Given the description of an element on the screen output the (x, y) to click on. 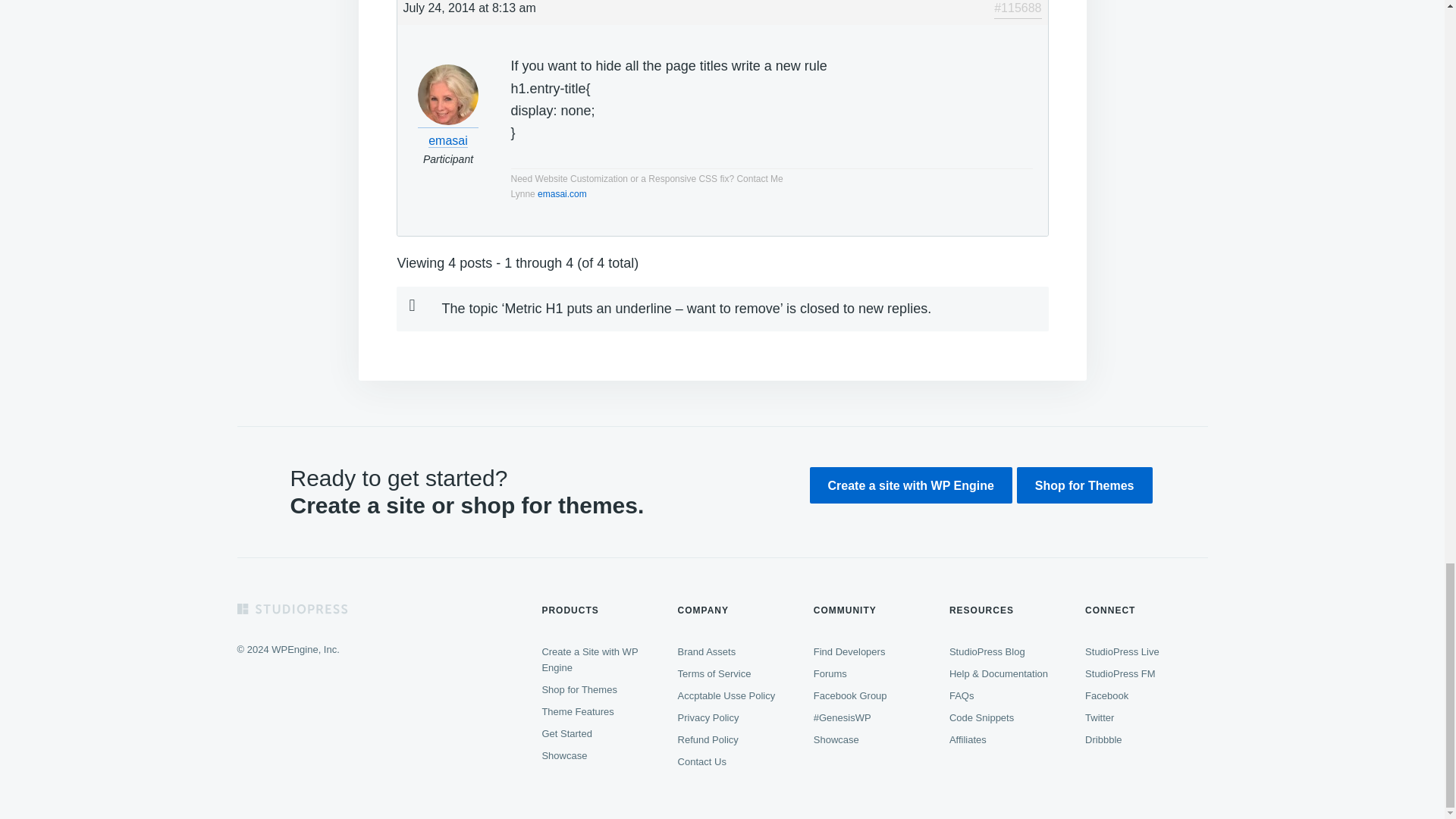
View emasai's profile (448, 131)
